Given the description of an element on the screen output the (x, y) to click on. 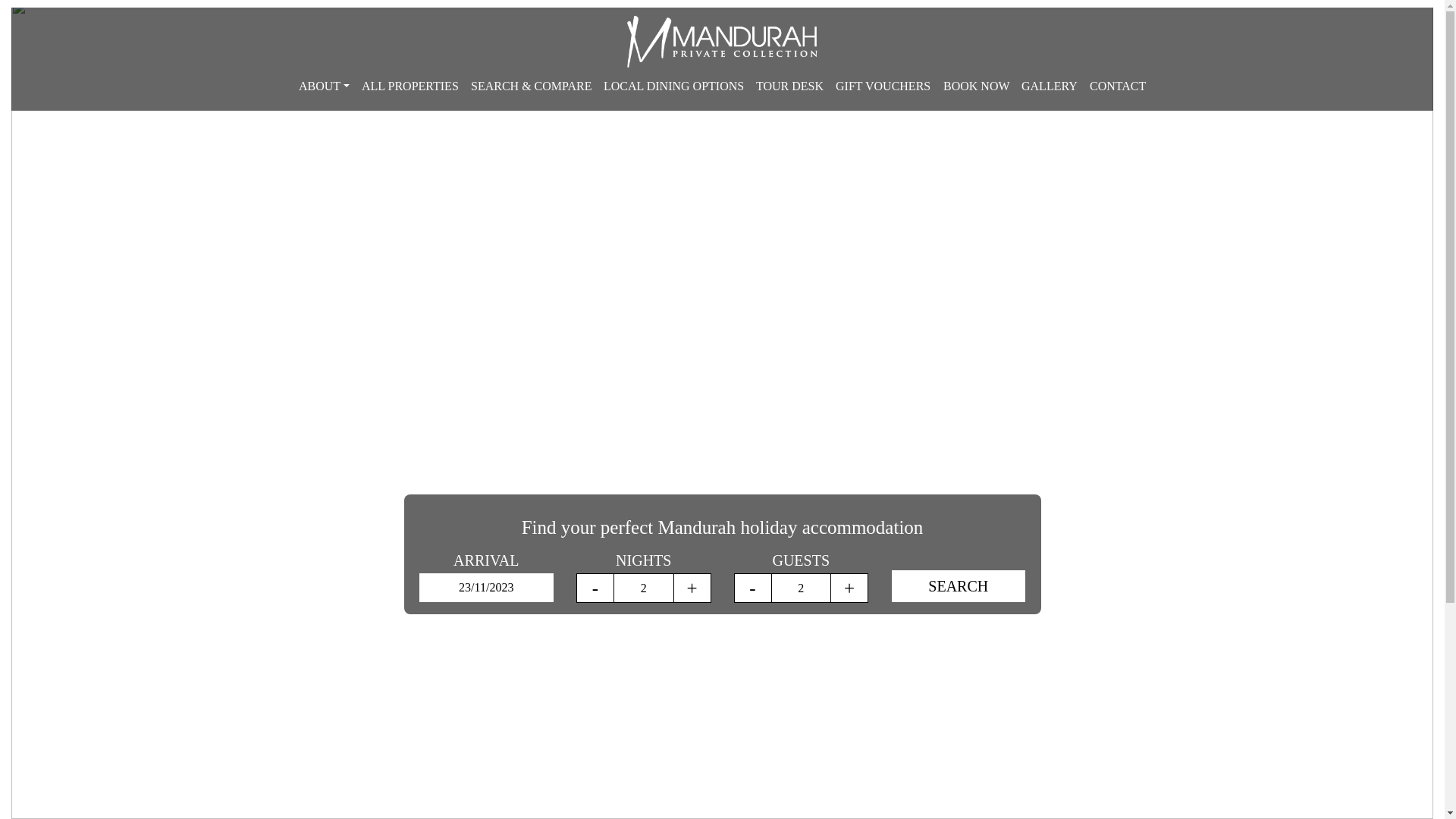
GALLERY Element type: text (1049, 86)
LOCAL DINING OPTIONS Element type: text (673, 86)
BOOK NOW Element type: text (976, 86)
CONTACT Element type: text (1117, 86)
GIFT VOUCHERS Element type: text (882, 86)
SEARCH & COMPARE Element type: text (530, 86)
- Element type: text (752, 587)
- Element type: text (595, 587)
ALL PROPERTIES Element type: text (409, 86)
+ Element type: text (692, 587)
ABOUT Element type: text (323, 86)
+ Element type: text (849, 587)
SEARCH Element type: text (958, 585)
TOUR DESK Element type: text (789, 86)
